Given the description of an element on the screen output the (x, y) to click on. 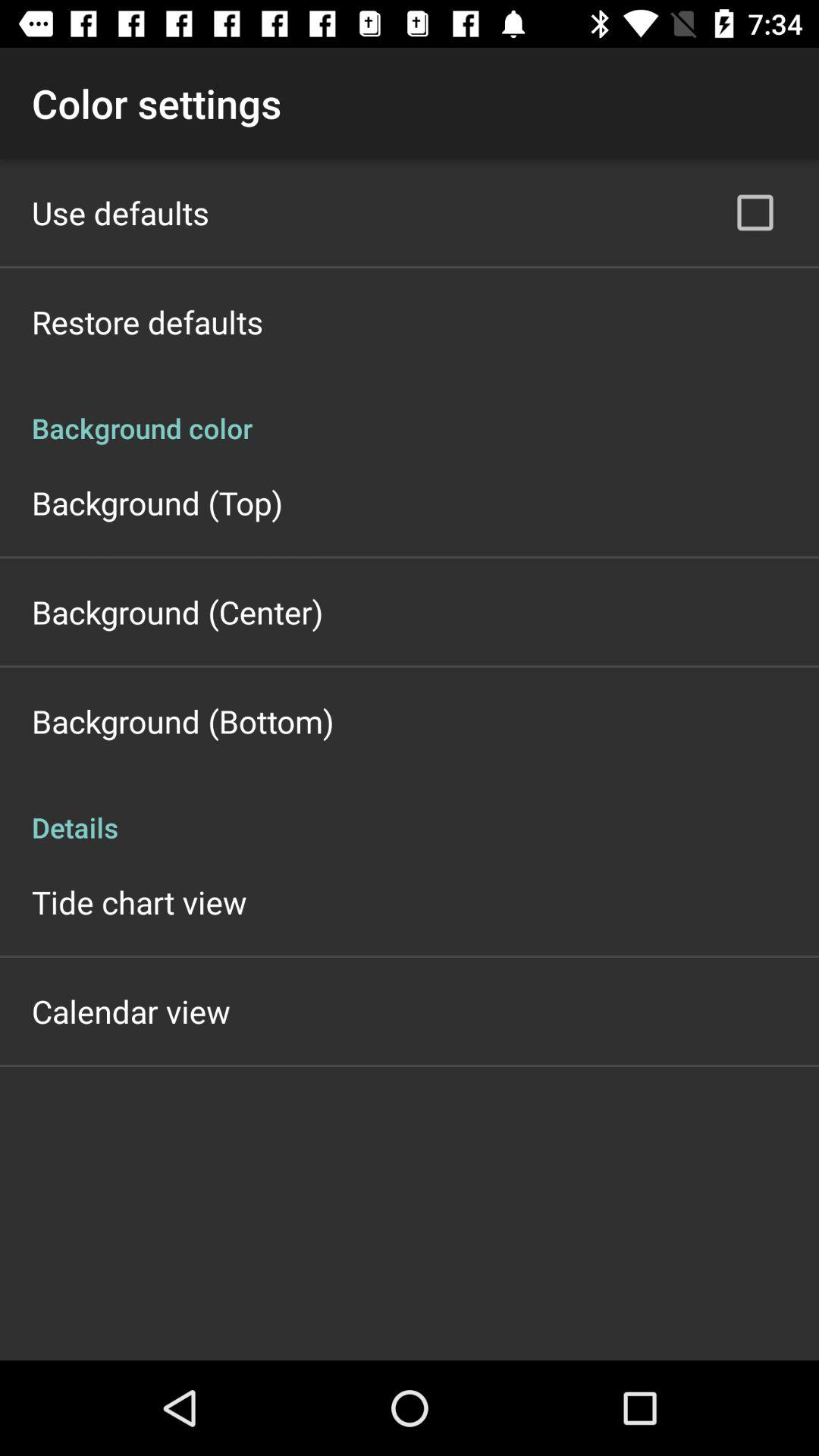
launch background color icon (409, 412)
